Given the description of an element on the screen output the (x, y) to click on. 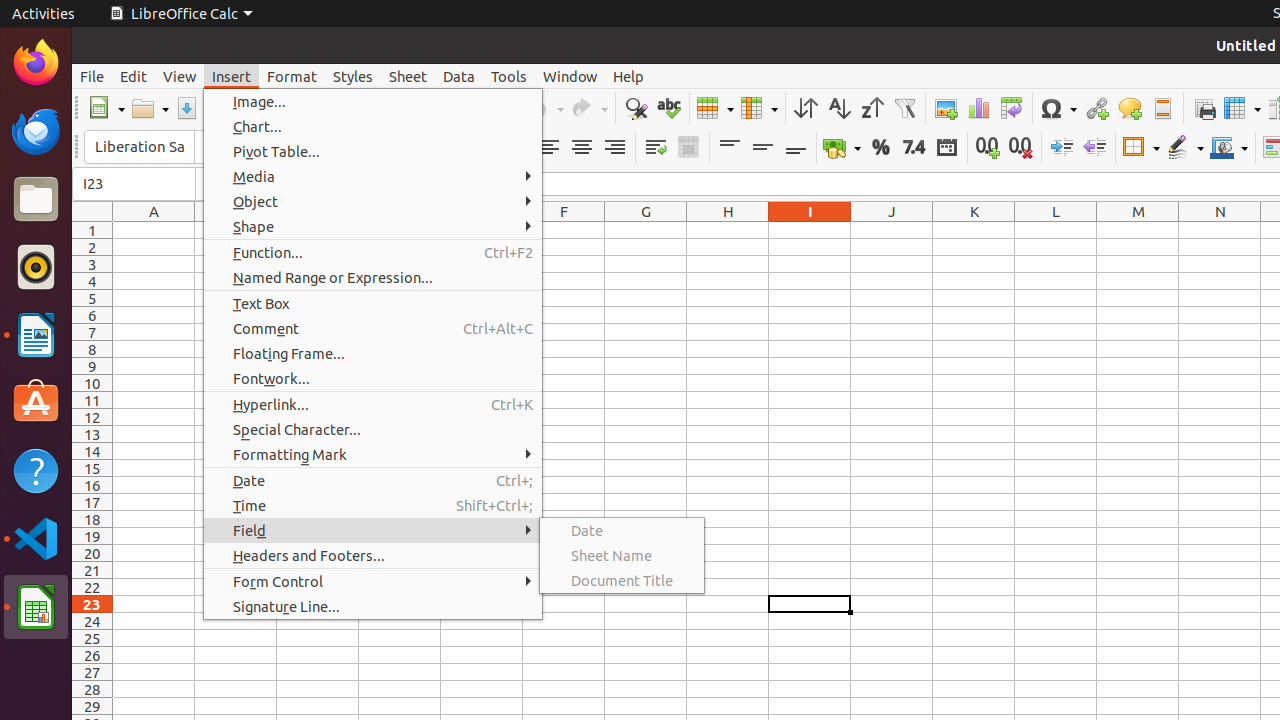
Fontwork... Element type: menu-item (373, 378)
Add Decimal Place Element type: push-button (987, 147)
Open Element type: push-button (150, 108)
Print Area Element type: push-button (1203, 108)
LibreOffice Calc Element type: menu (181, 13)
